Given the description of an element on the screen output the (x, y) to click on. 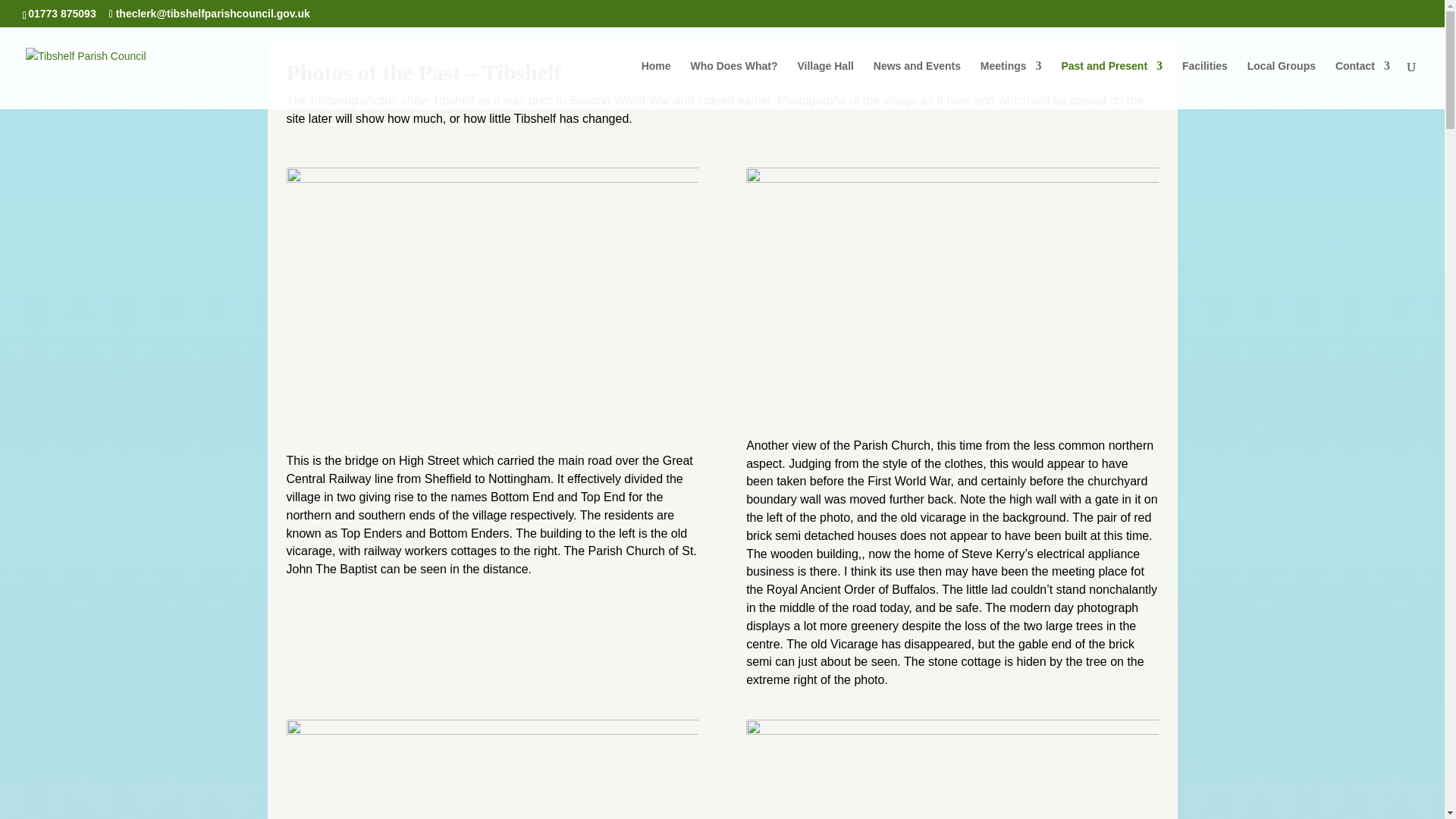
Local Groups (1281, 84)
Who Does What? (733, 84)
Facilities (1204, 84)
News and Events (916, 84)
Meetings (1010, 84)
Past and Present (1111, 84)
Village Hall (824, 84)
Contact (1362, 84)
